Given the description of an element on the screen output the (x, y) to click on. 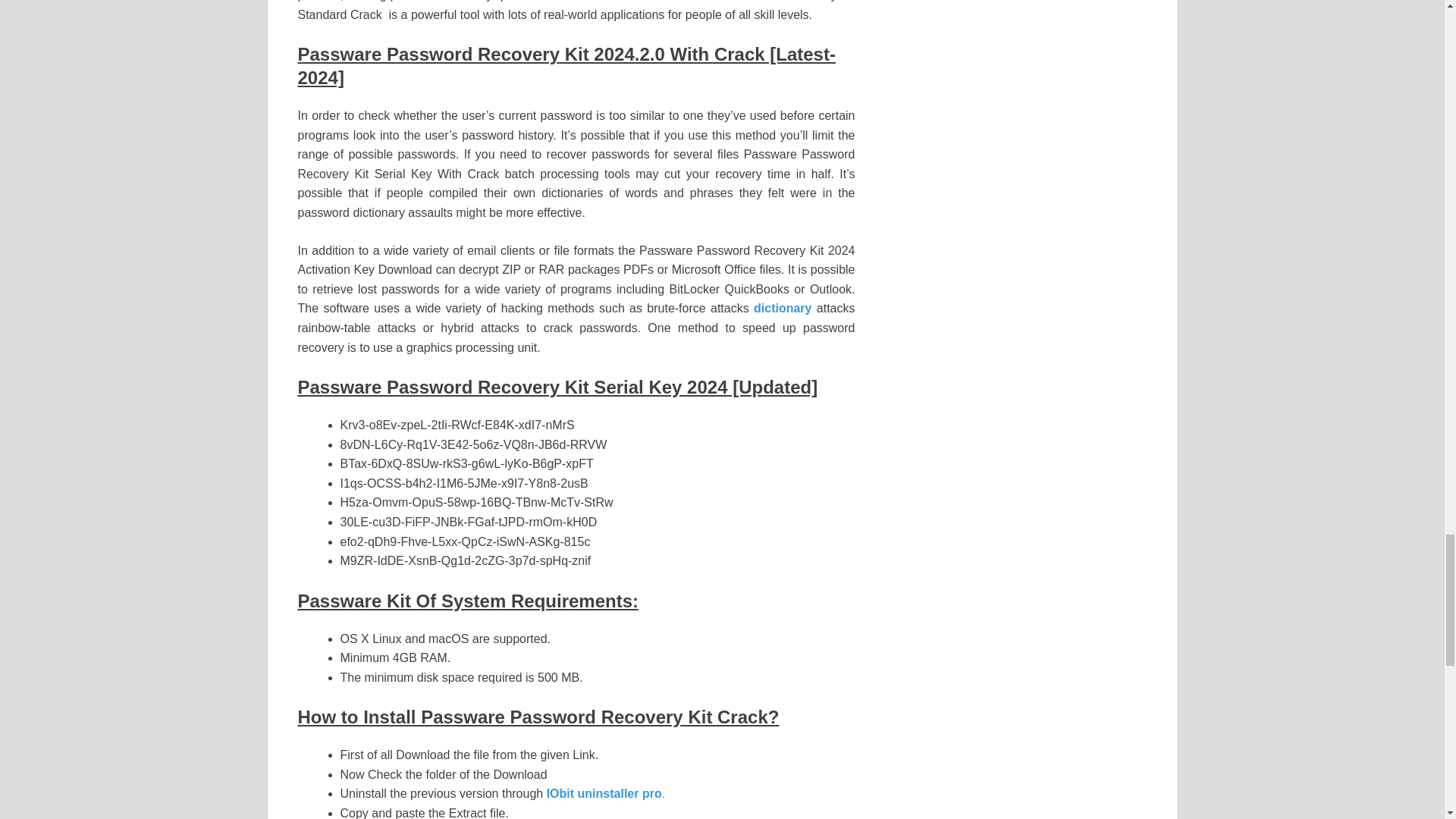
dictionary (782, 308)
IObit uninstaller pro. (606, 793)
